Given the description of an element on the screen output the (x, y) to click on. 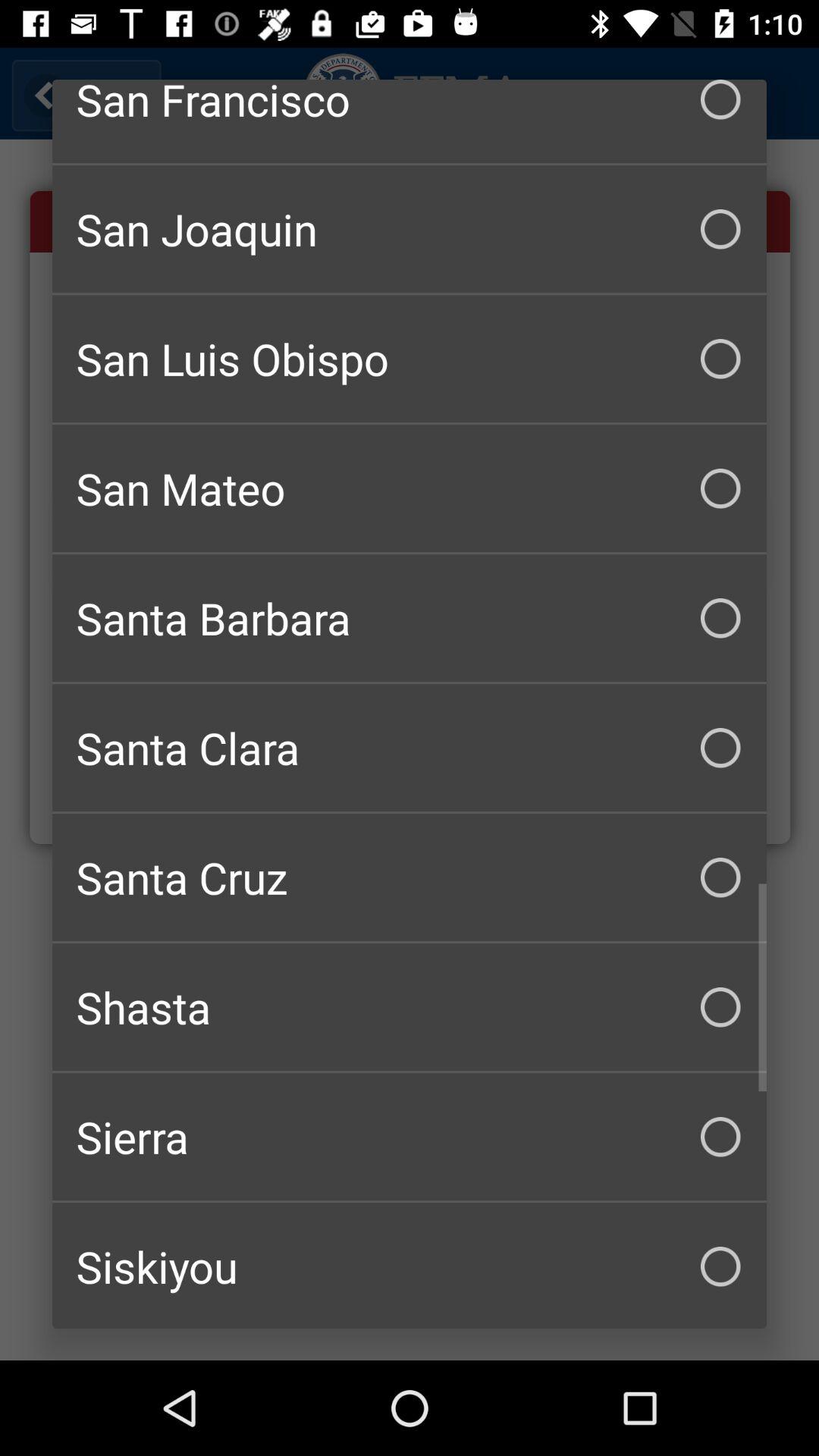
click icon above santa cruz icon (409, 747)
